Given the description of an element on the screen output the (x, y) to click on. 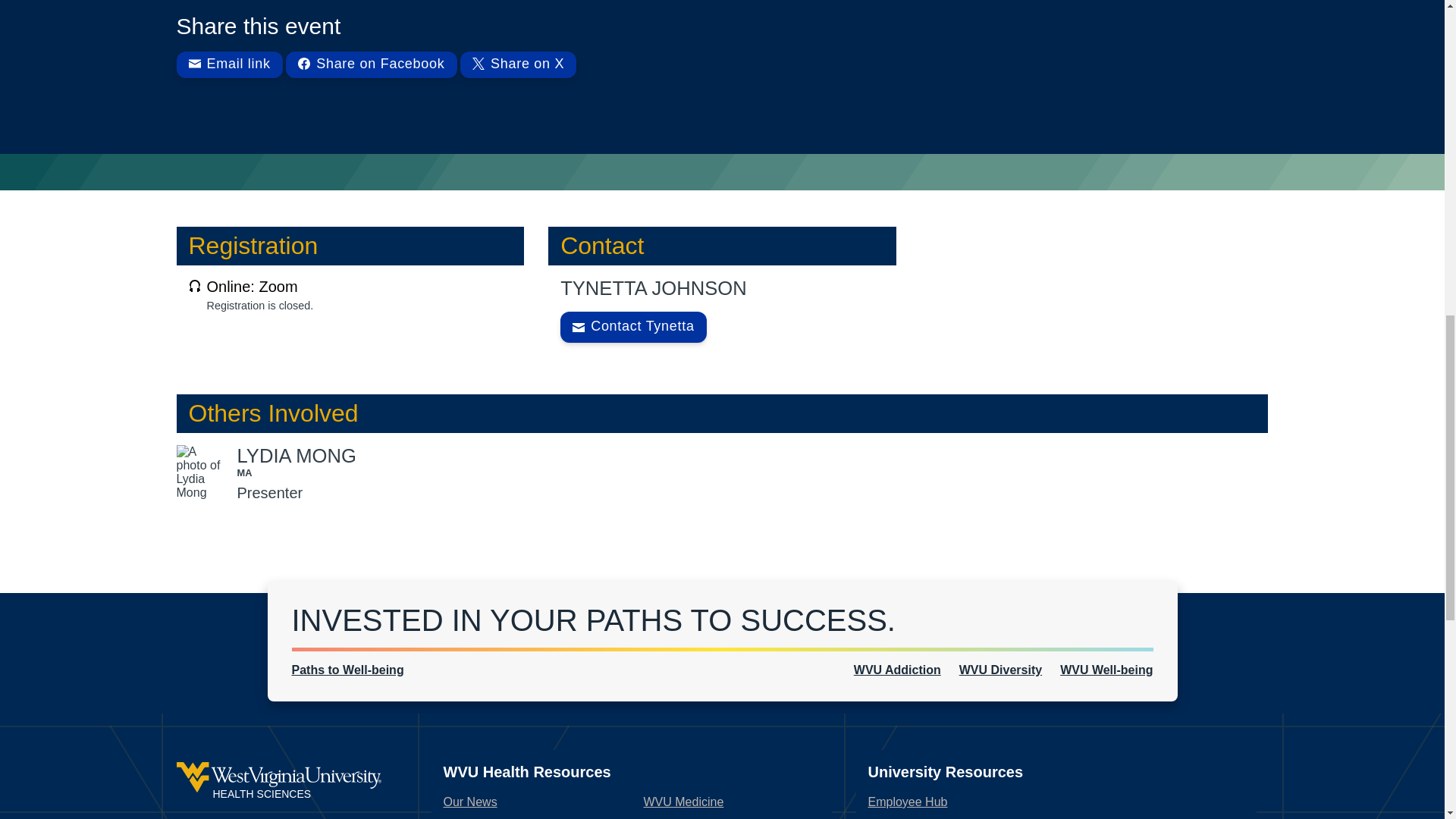
Paths to Well-being (347, 670)
WVU Well-being (1106, 670)
Email link (229, 64)
Our News (469, 801)
WVU Diversity (1000, 670)
Share on X (518, 64)
HEALTH SCIENCES (278, 781)
WVU Medicine (683, 801)
Contact Tynetta (633, 327)
Share on Facebook (371, 64)
